Given the description of an element on the screen output the (x, y) to click on. 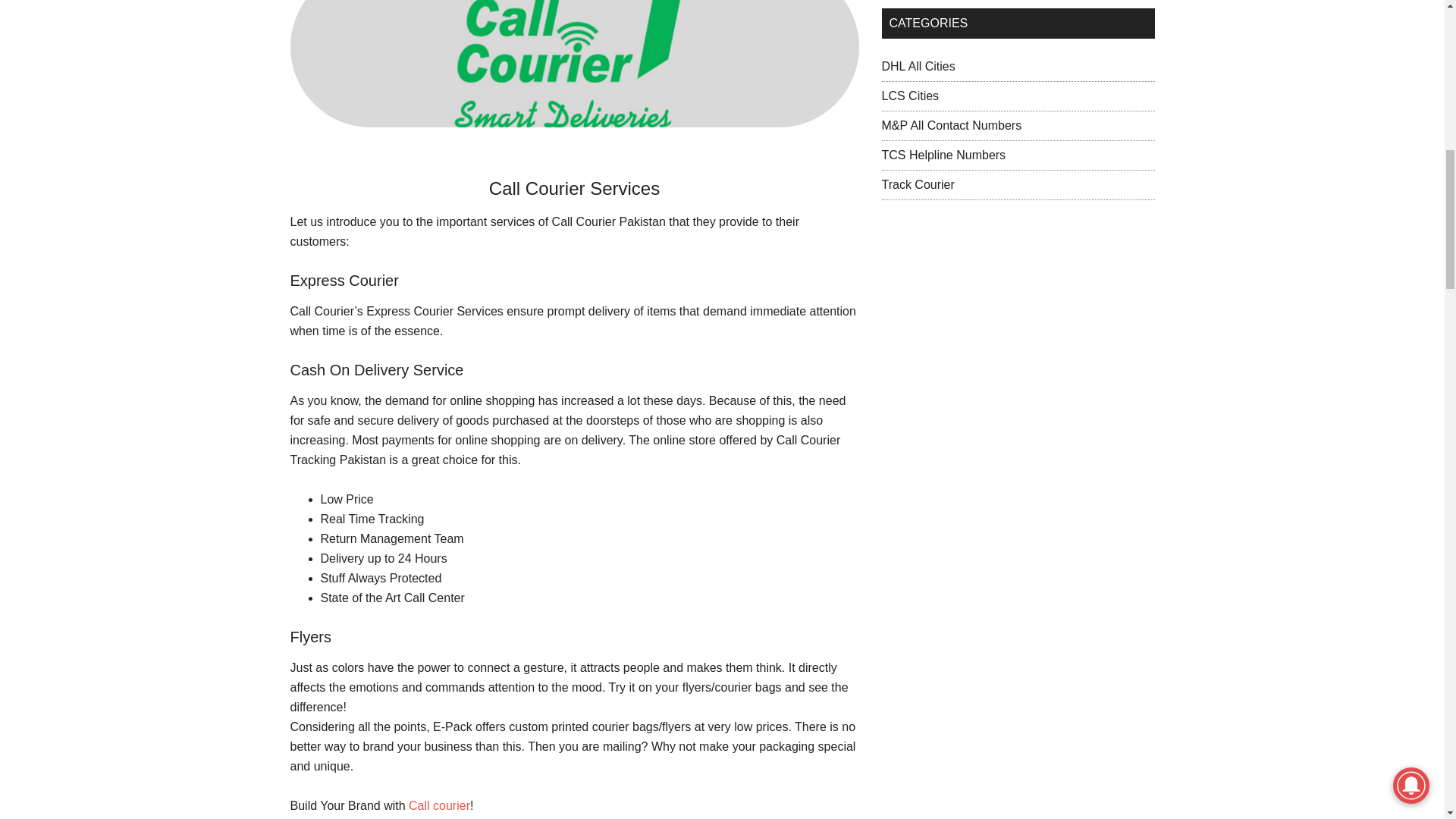
TCS Helpline Numbers (943, 154)
DHL All Cities (917, 65)
Track Courier (916, 184)
Call courier (439, 805)
LCS Cities (909, 95)
Callcourier  (574, 63)
